Given the description of an element on the screen output the (x, y) to click on. 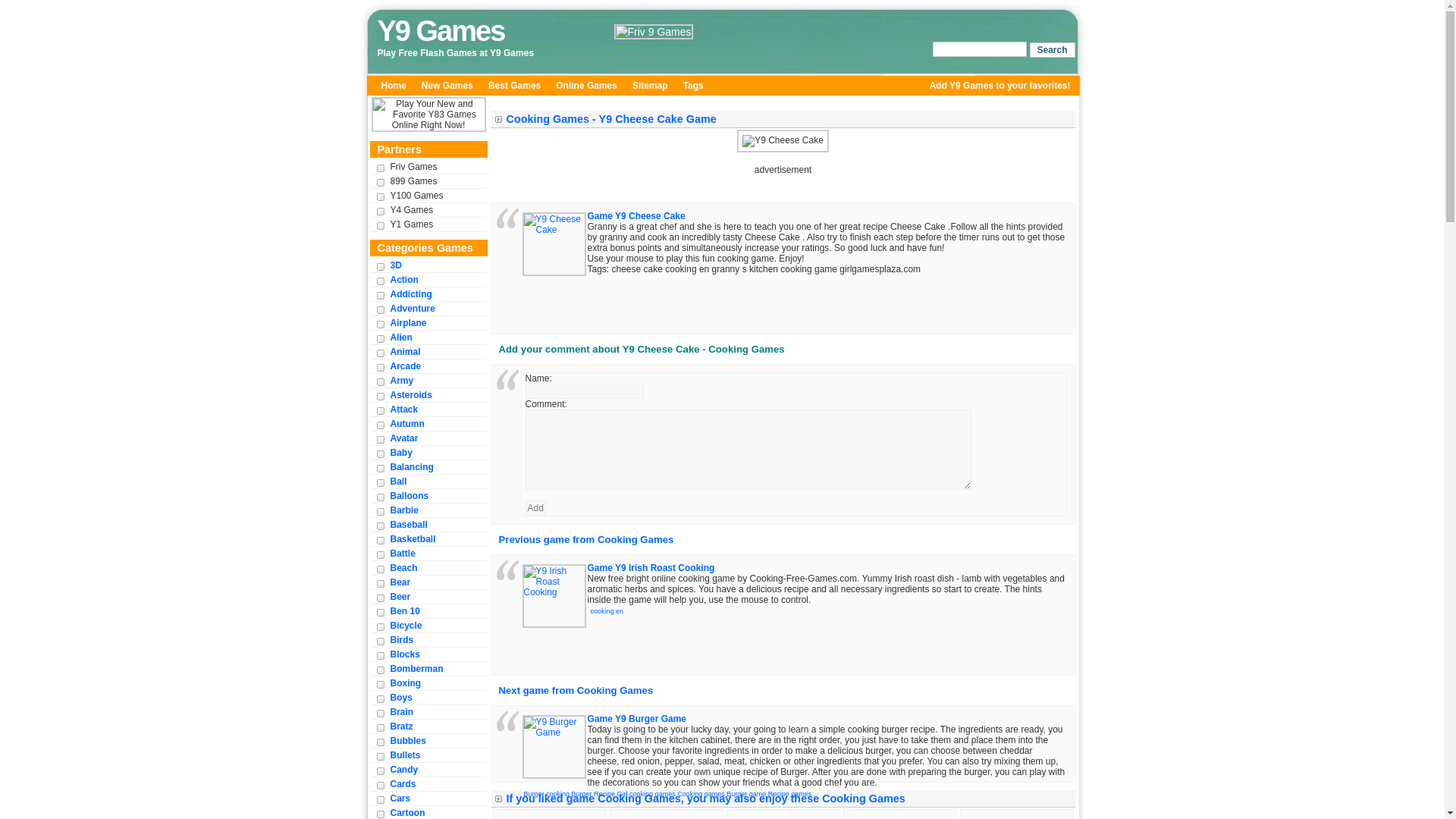
Balancing (411, 467)
Adventure (411, 308)
Addicting Games (410, 294)
Best Games (514, 85)
Avatar Games (403, 438)
Battle (402, 553)
Sitemap (649, 85)
Ball (398, 481)
Airplane (408, 323)
Beer (400, 596)
